Given the description of an element on the screen output the (x, y) to click on. 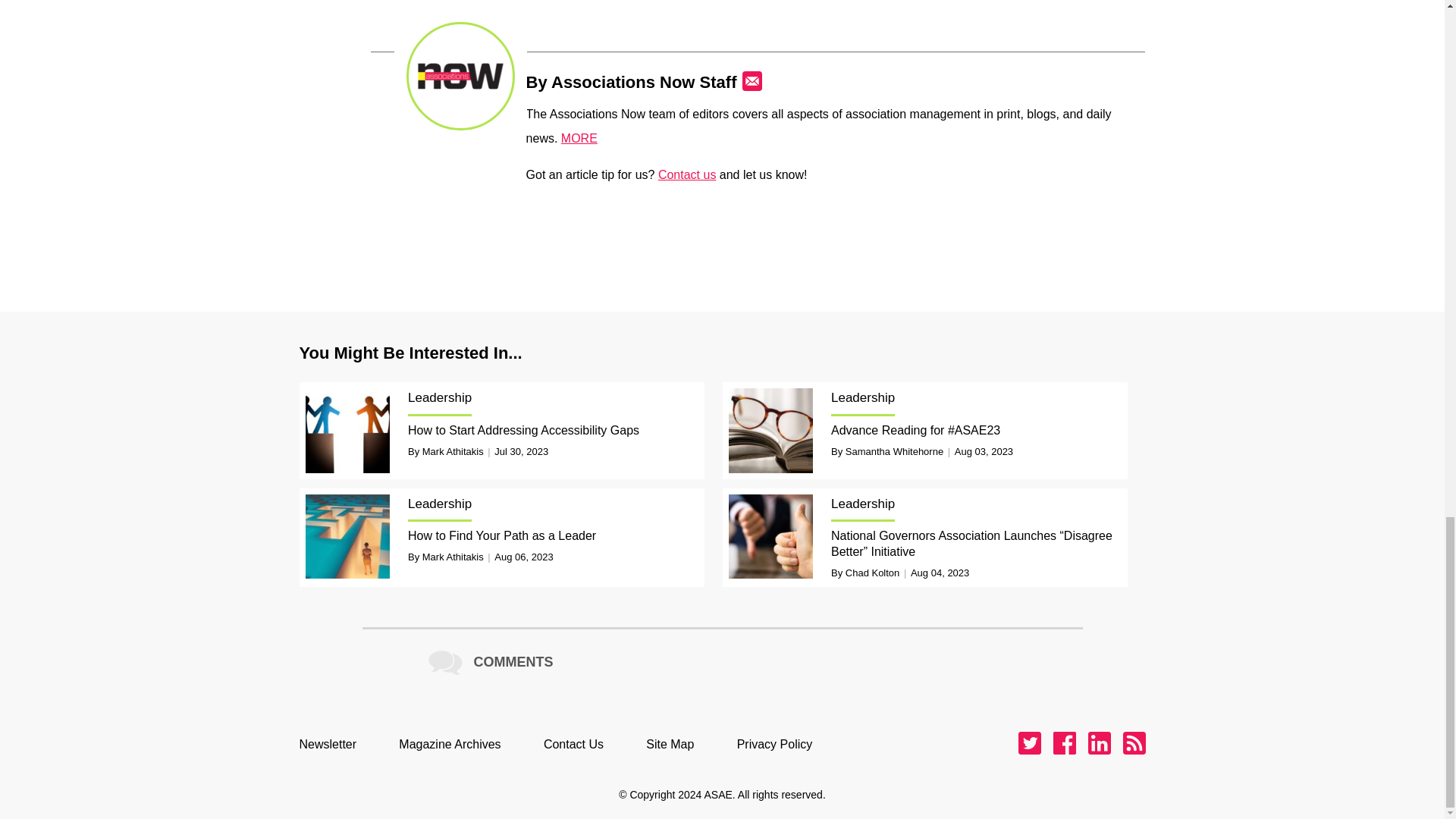
Email (751, 80)
Mail (751, 80)
Contact us (687, 174)
MORE (578, 137)
Newsletter (334, 744)
Site Map (677, 744)
Twitter (1029, 743)
Privacy Policy (782, 744)
Visit us onFacebook (1063, 743)
Contact Us (580, 744)
3rd party ad content (722, 233)
Magazine Archives (456, 744)
Rss Feel (1133, 743)
Visit us onLinkedIn (1098, 743)
